Given the description of an element on the screen output the (x, y) to click on. 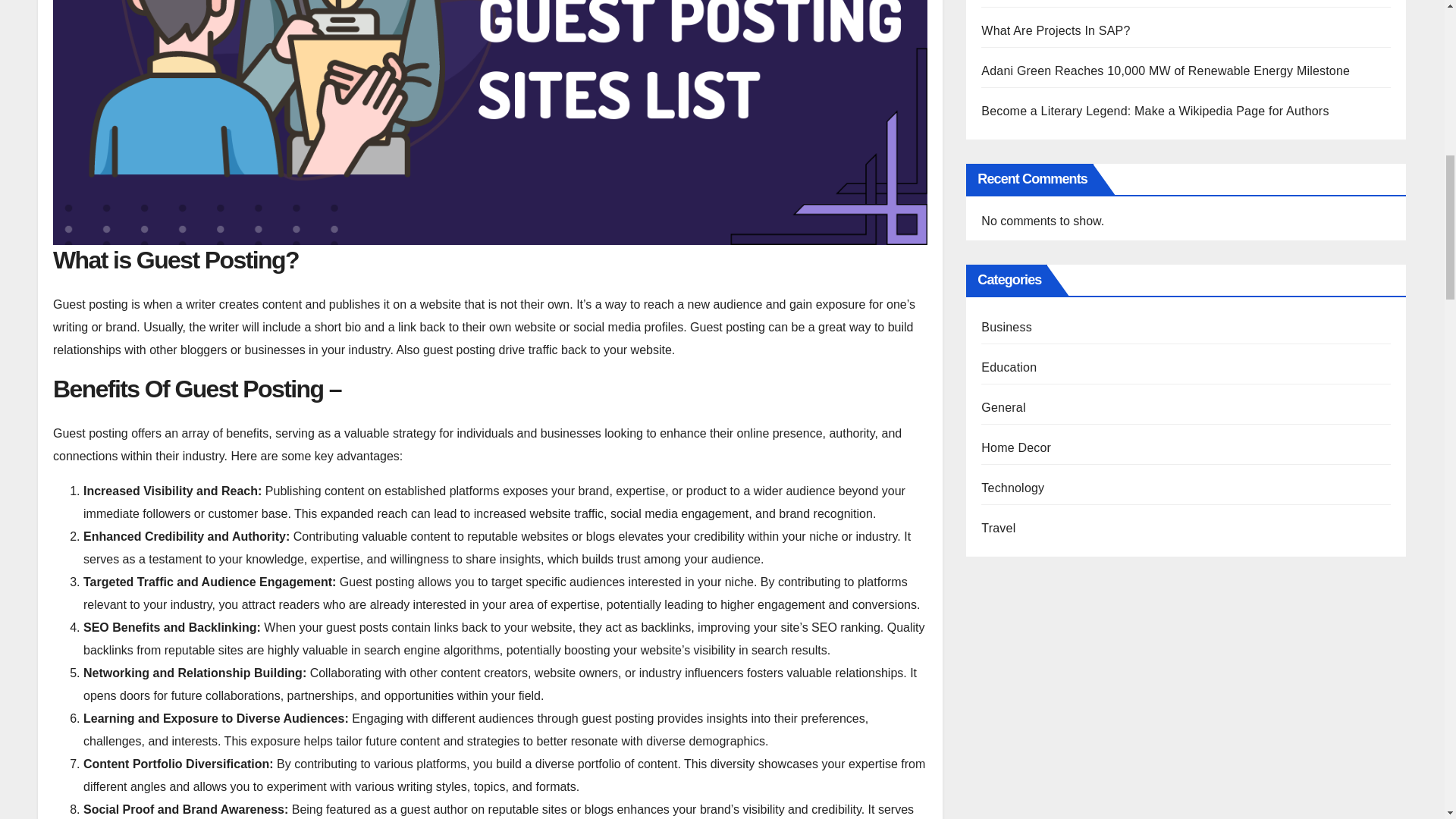
Technology (1012, 487)
What Are Projects In SAP? (1055, 30)
Travel (997, 527)
Education (1008, 367)
General (1003, 407)
Home Decor (1016, 447)
Business (1006, 327)
Adani Green Reaches 10,000 MW of Renewable Energy Milestone (1165, 70)
Become a Literary Legend: Make a Wikipedia Page for Authors (1154, 110)
